Given the description of an element on the screen output the (x, y) to click on. 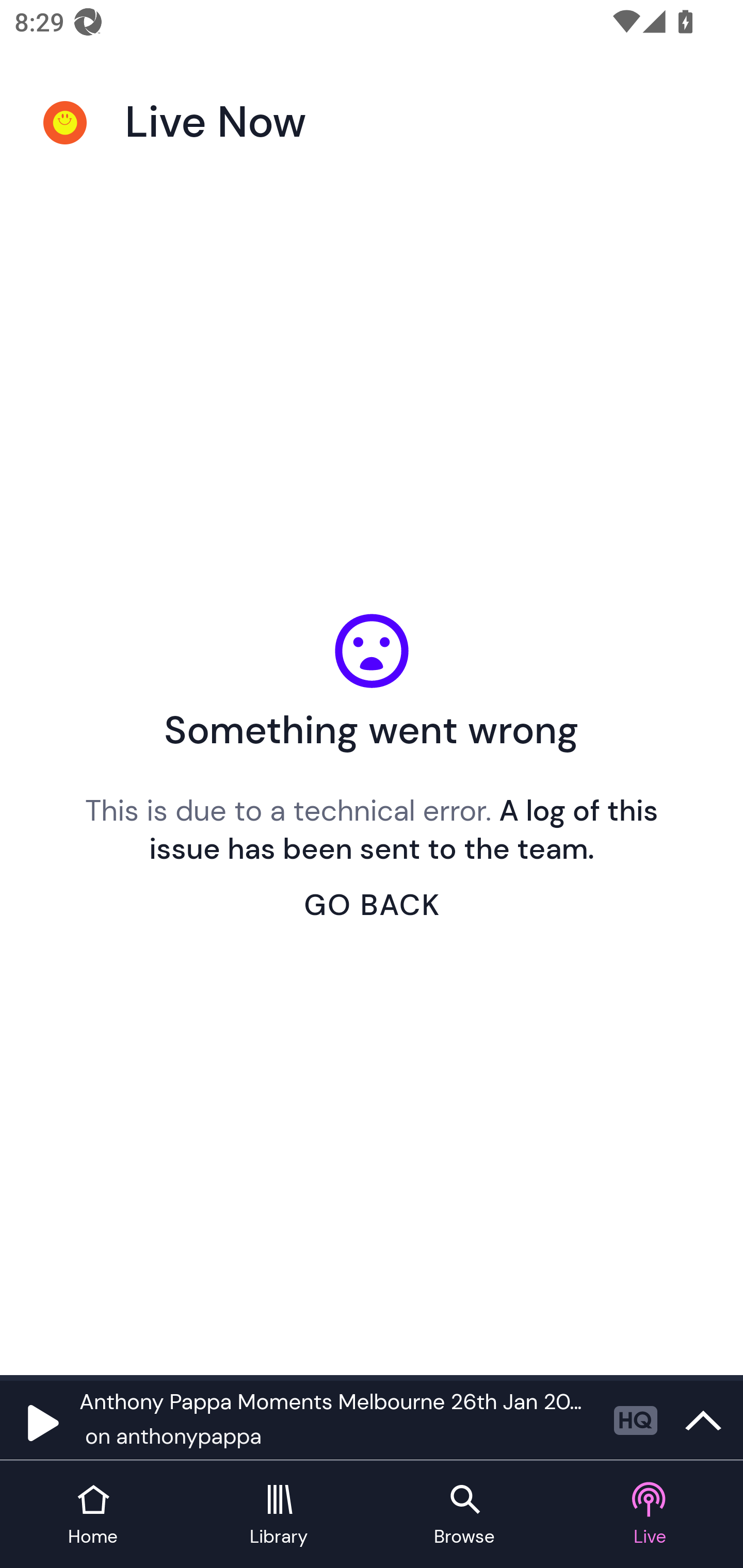
GO BACK (371, 904)
Home tab Home (92, 1515)
Library tab Library (278, 1515)
Browse tab Browse (464, 1515)
Live tab Live (650, 1515)
